Given the description of an element on the screen output the (x, y) to click on. 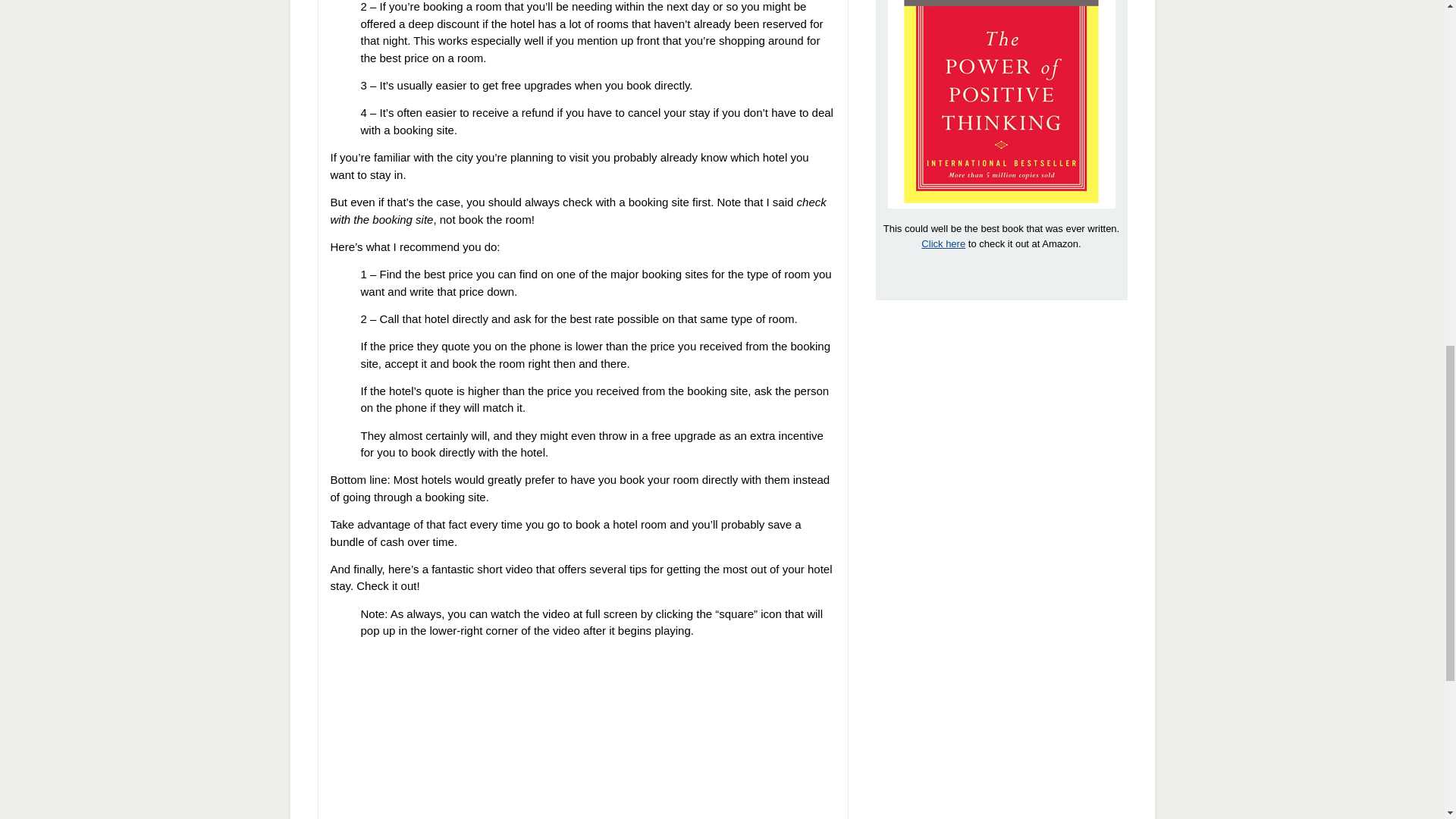
YouTube video player (582, 739)
Click here (943, 243)
